Given the description of an element on the screen output the (x, y) to click on. 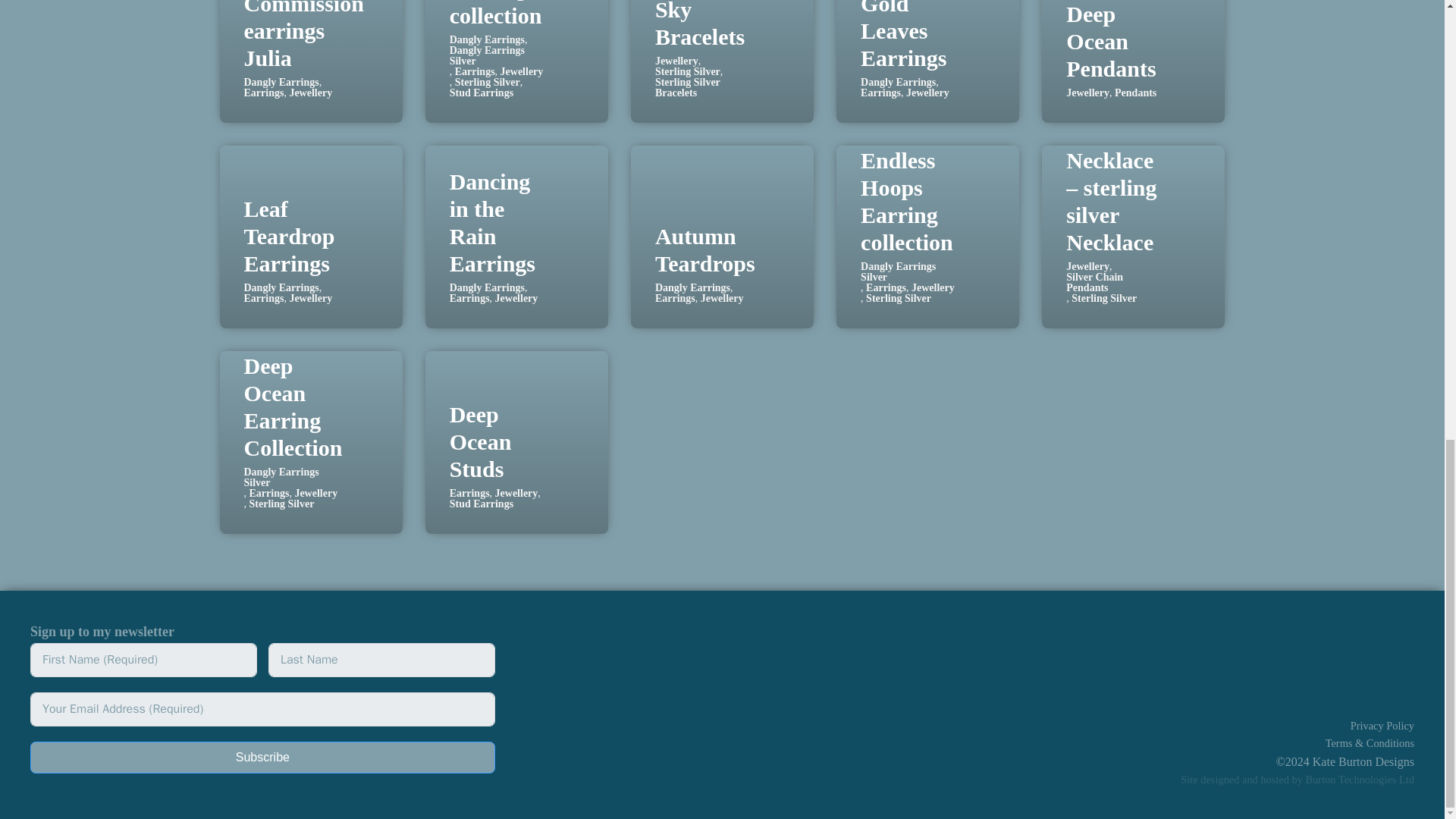
Earrings (474, 71)
Gold Leaves Earrings (903, 35)
Earrings (263, 92)
Sterling Silver (687, 71)
Commission earrings Julia (304, 35)
Jewellery (309, 92)
Jewellery (676, 61)
Stud Earrings (481, 92)
Dangly Earrings (486, 40)
Sterling Silver (486, 81)
